Given the description of an element on the screen output the (x, y) to click on. 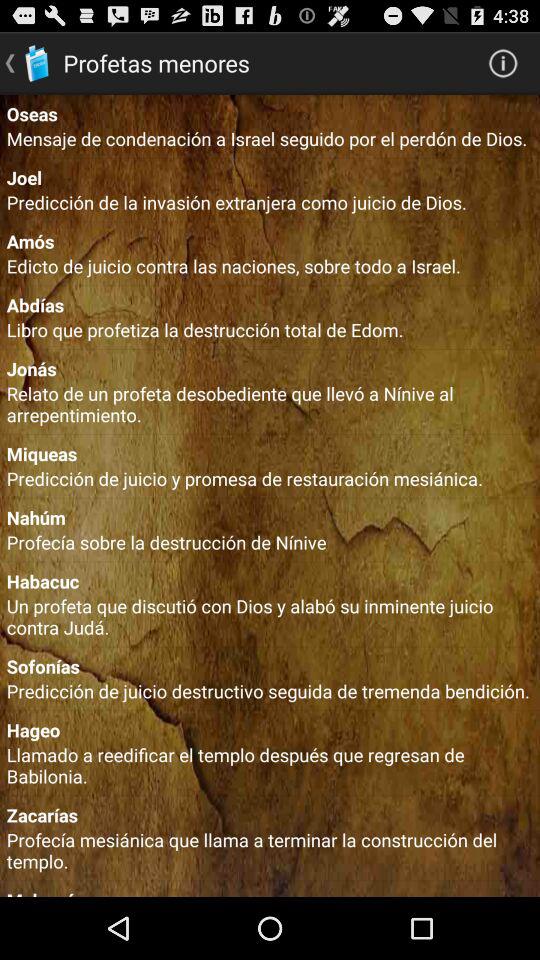
swipe until the libro que profetiza app (269, 329)
